Given the description of an element on the screen output the (x, y) to click on. 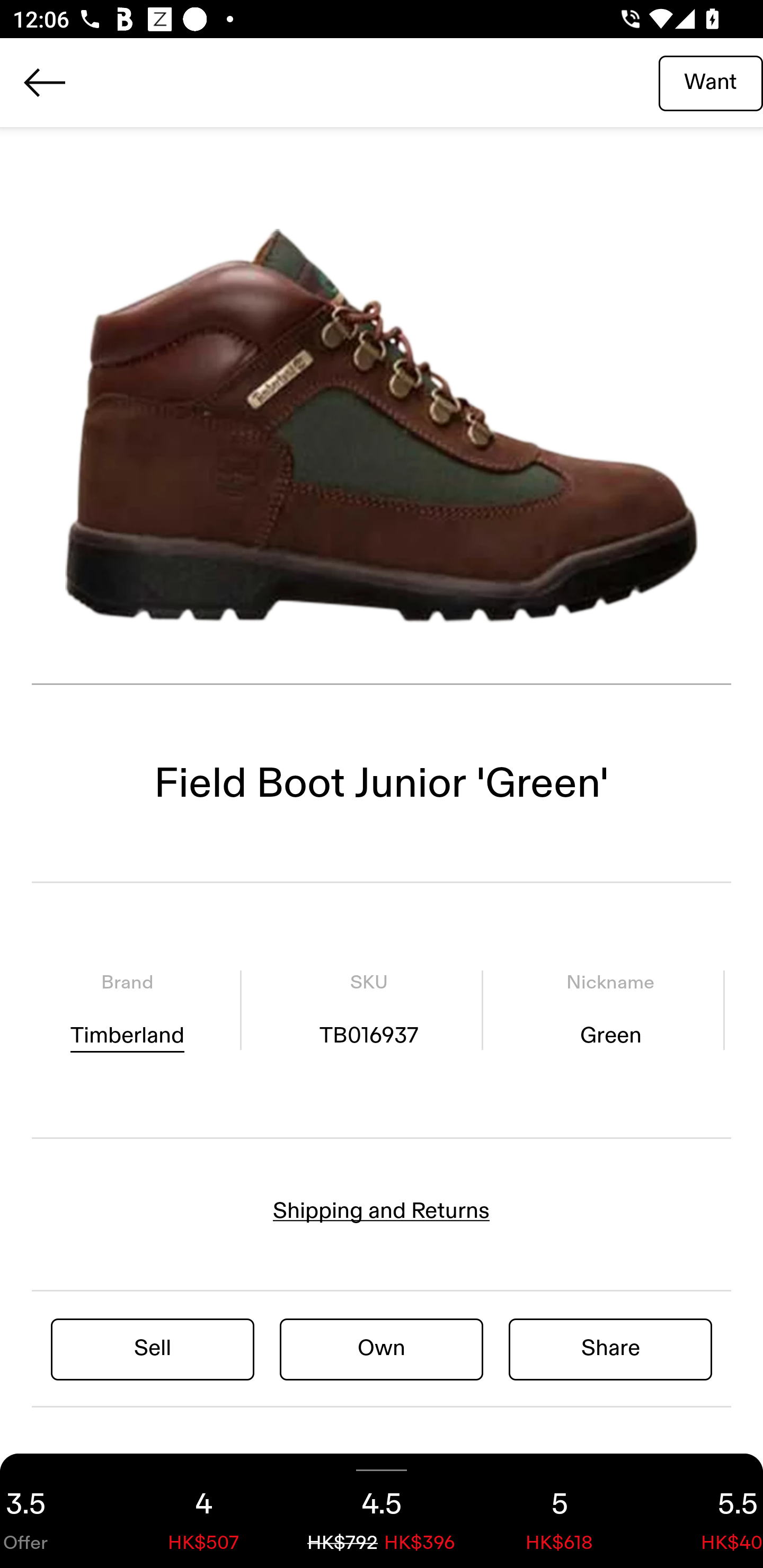
Want (710, 82)
Brand Timberland (126, 1009)
SKU TB016937 (368, 1009)
Nickname Green (609, 1009)
Shipping and Returns (381, 1211)
Sell (152, 1348)
Own (381, 1348)
Share (609, 1348)
3.5 Offer (57, 1510)
4 HK$507 (203, 1510)
4.5 HK$792 HK$396 (381, 1510)
5 HK$618 (559, 1510)
5.5 HK$404 (705, 1510)
